Given the description of an element on the screen output the (x, y) to click on. 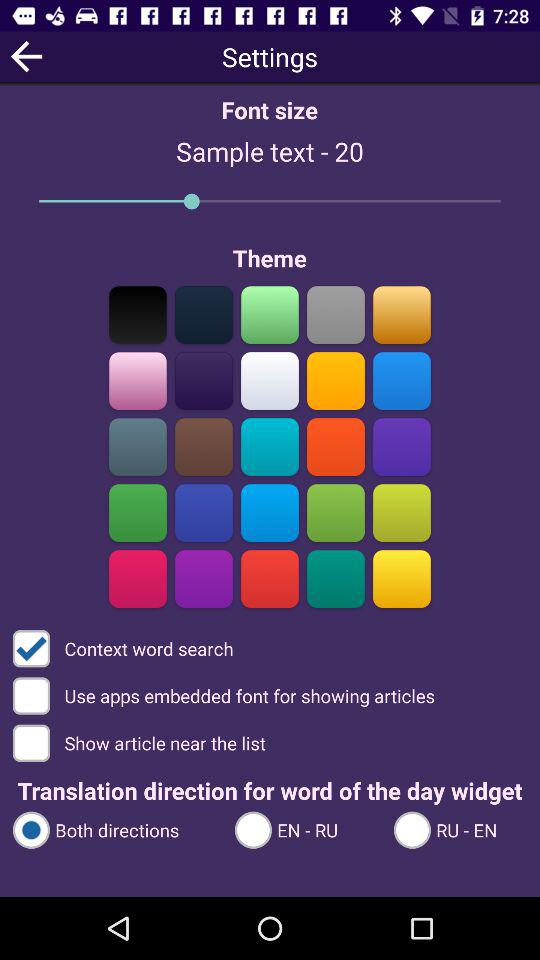
choose theme color (335, 512)
